Given the description of an element on the screen output the (x, y) to click on. 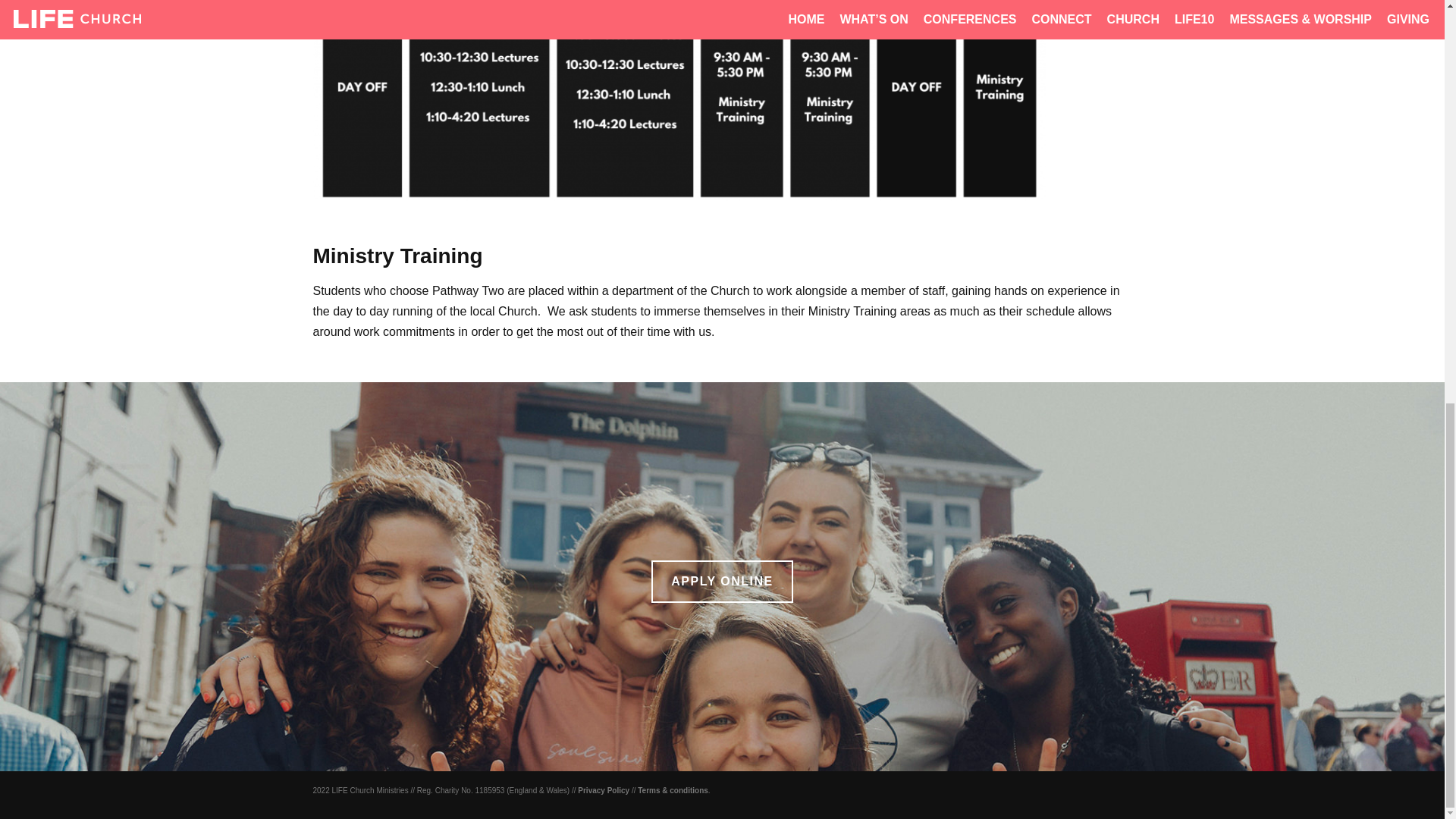
Apply Online (721, 581)
Spotify (1108, 789)
YouTube (1093, 789)
Instagram (1078, 789)
Twitter (1048, 789)
Email (1123, 789)
Facebook (1062, 789)
